Given the description of an element on the screen output the (x, y) to click on. 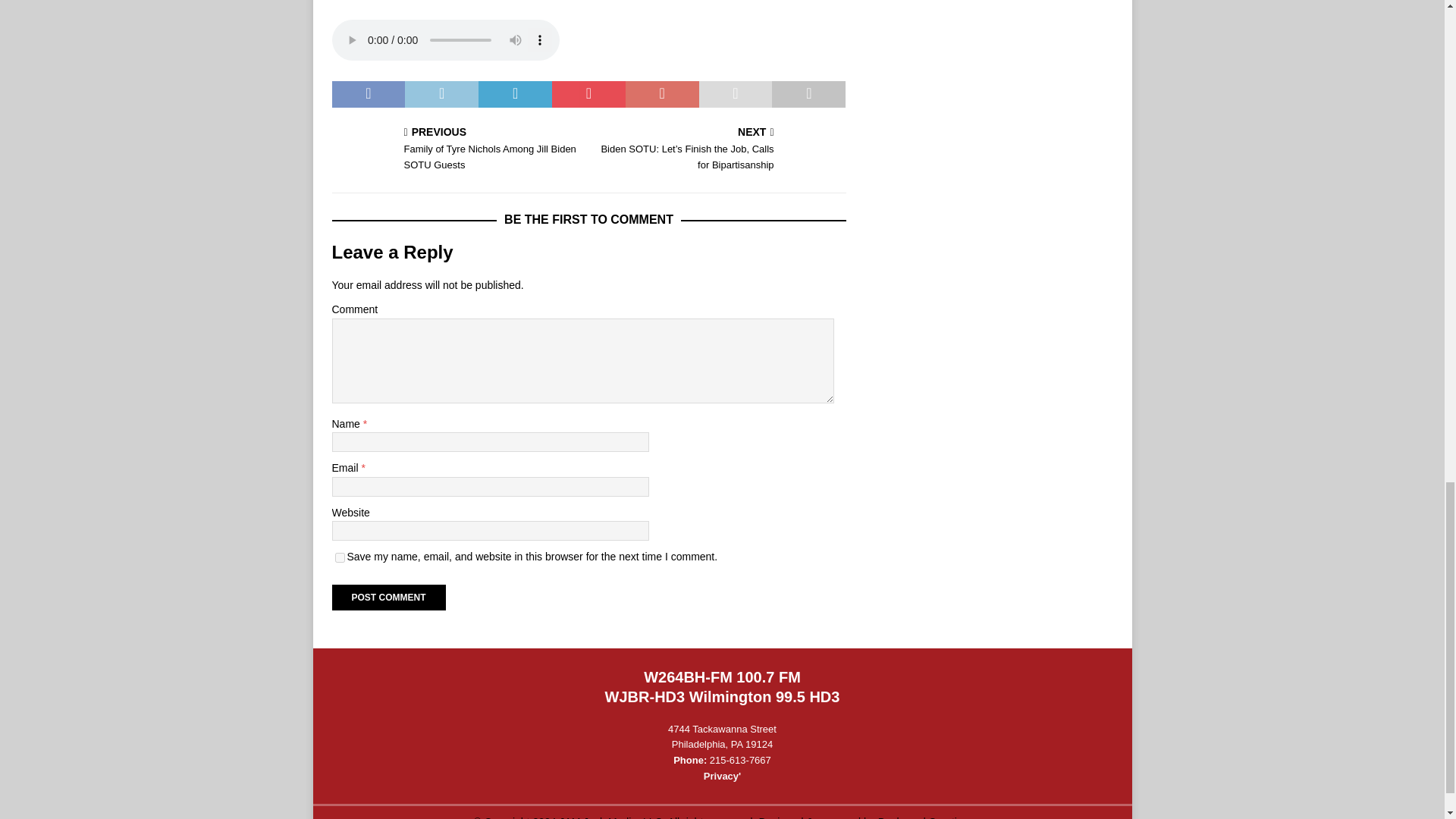
yes (339, 557)
Post Comment (388, 596)
